Given the description of an element on the screen output the (x, y) to click on. 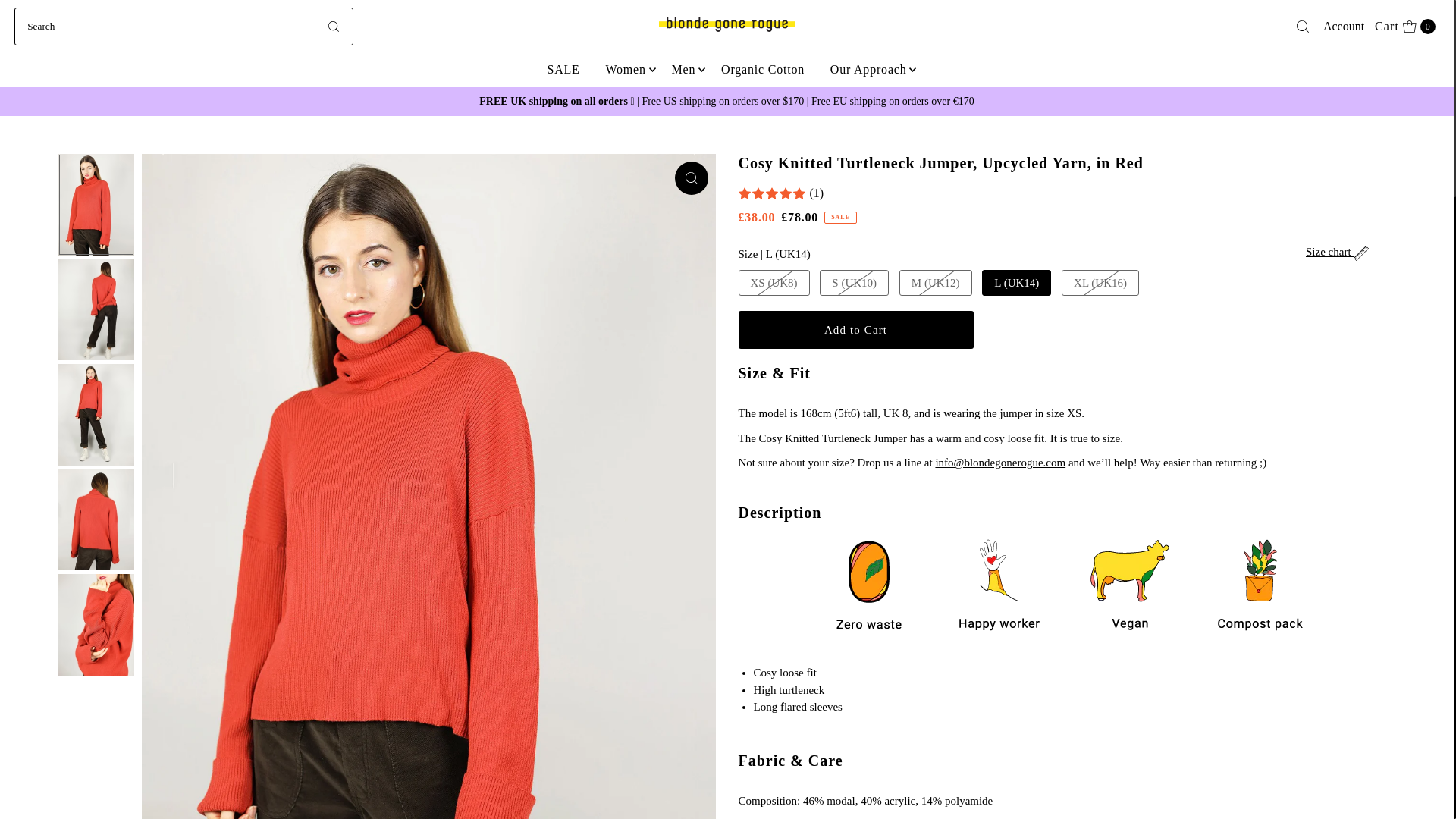
Add to Cart (1405, 26)
Account (856, 329)
Women (1343, 26)
SALE (625, 69)
Click to zoom (563, 69)
